Given the description of an element on the screen output the (x, y) to click on. 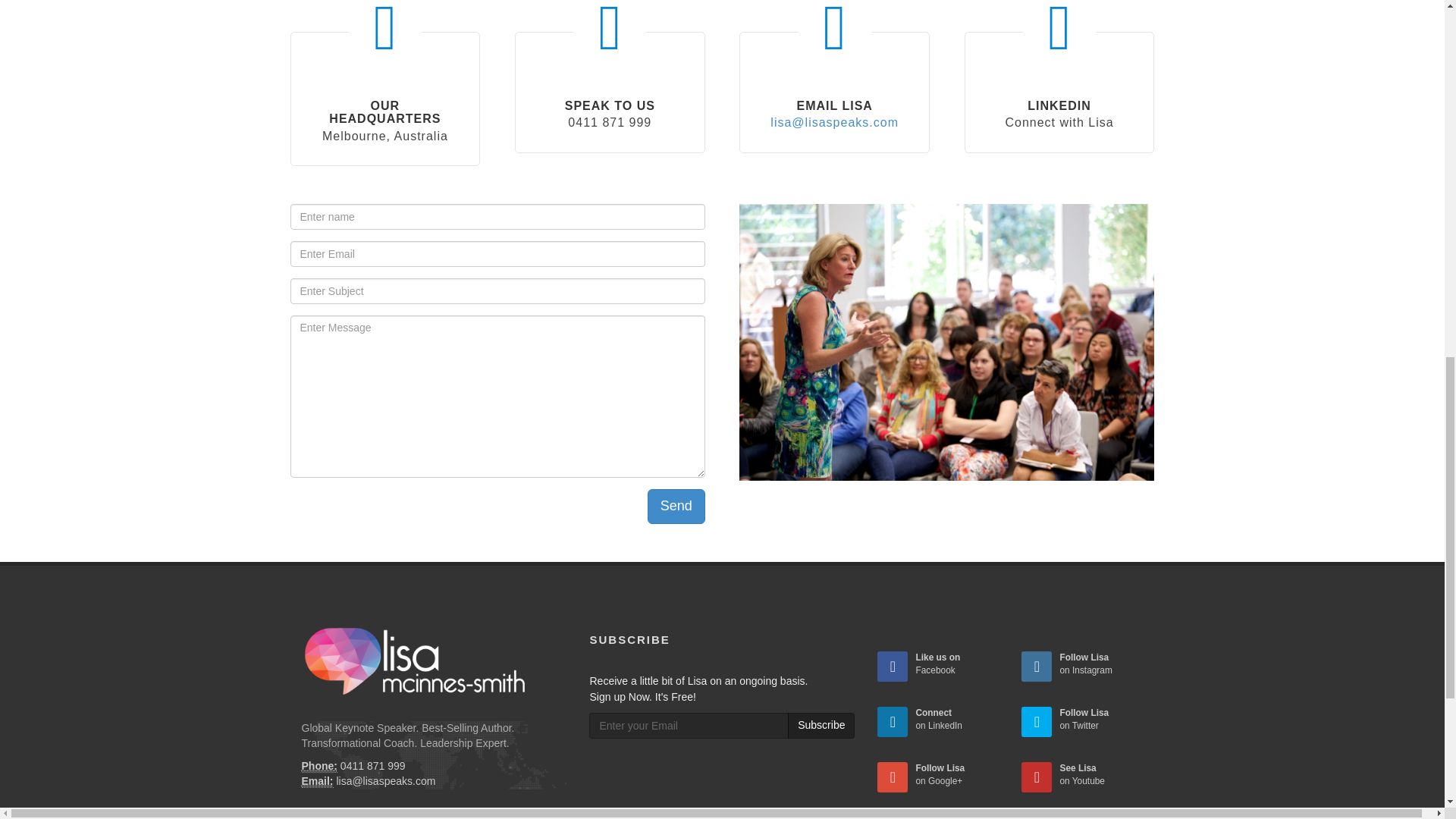
Email Address (317, 780)
Phone Number (319, 766)
